Given the description of an element on the screen output the (x, y) to click on. 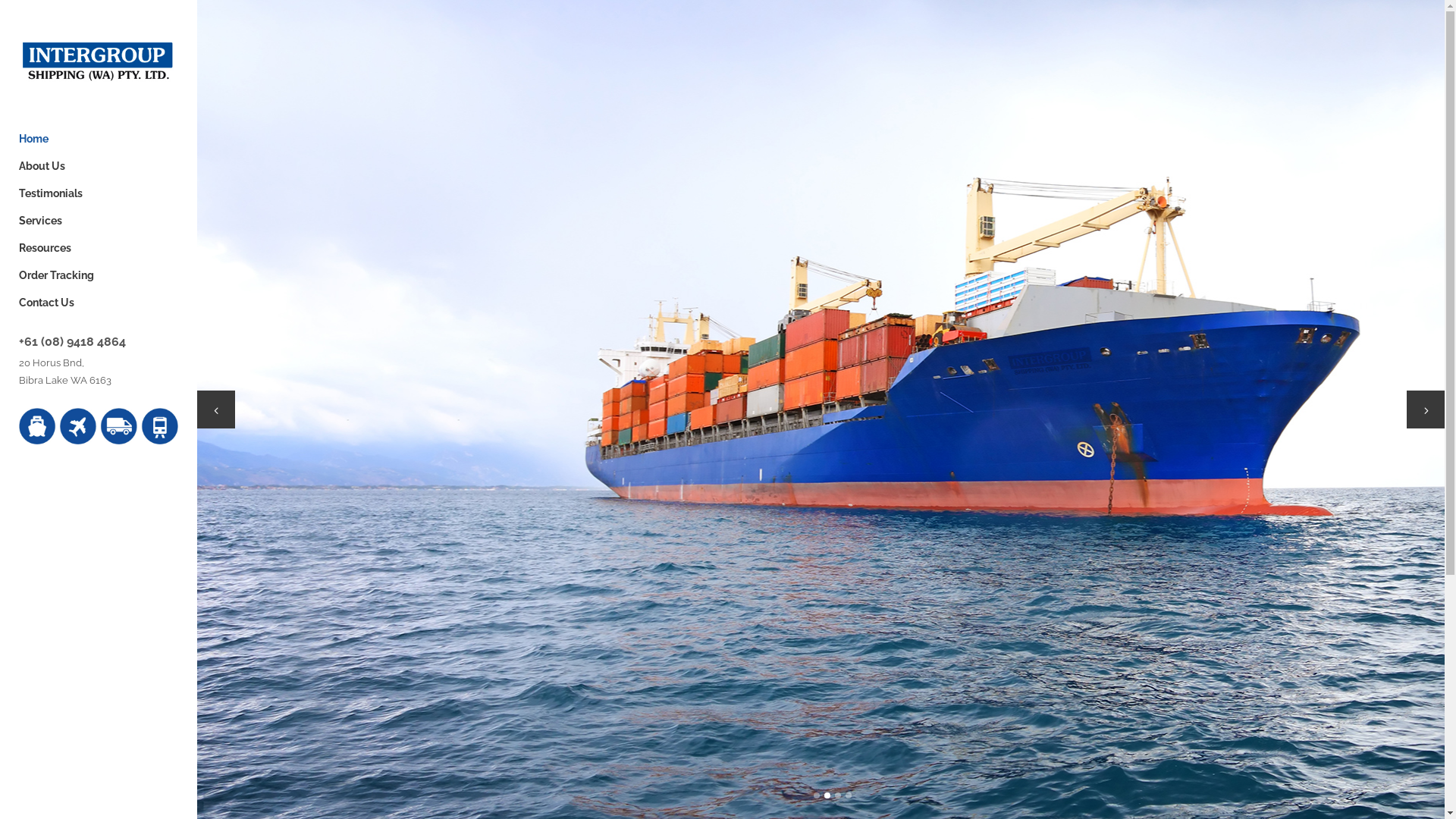
About Us Element type: text (98, 165)
Testimonials Element type: text (98, 193)
Resources Element type: text (98, 247)
Services Element type: text (98, 220)
Contact Us Element type: text (98, 302)
Order Tracking Element type: text (98, 274)
Home Element type: text (98, 138)
